Given the description of an element on the screen output the (x, y) to click on. 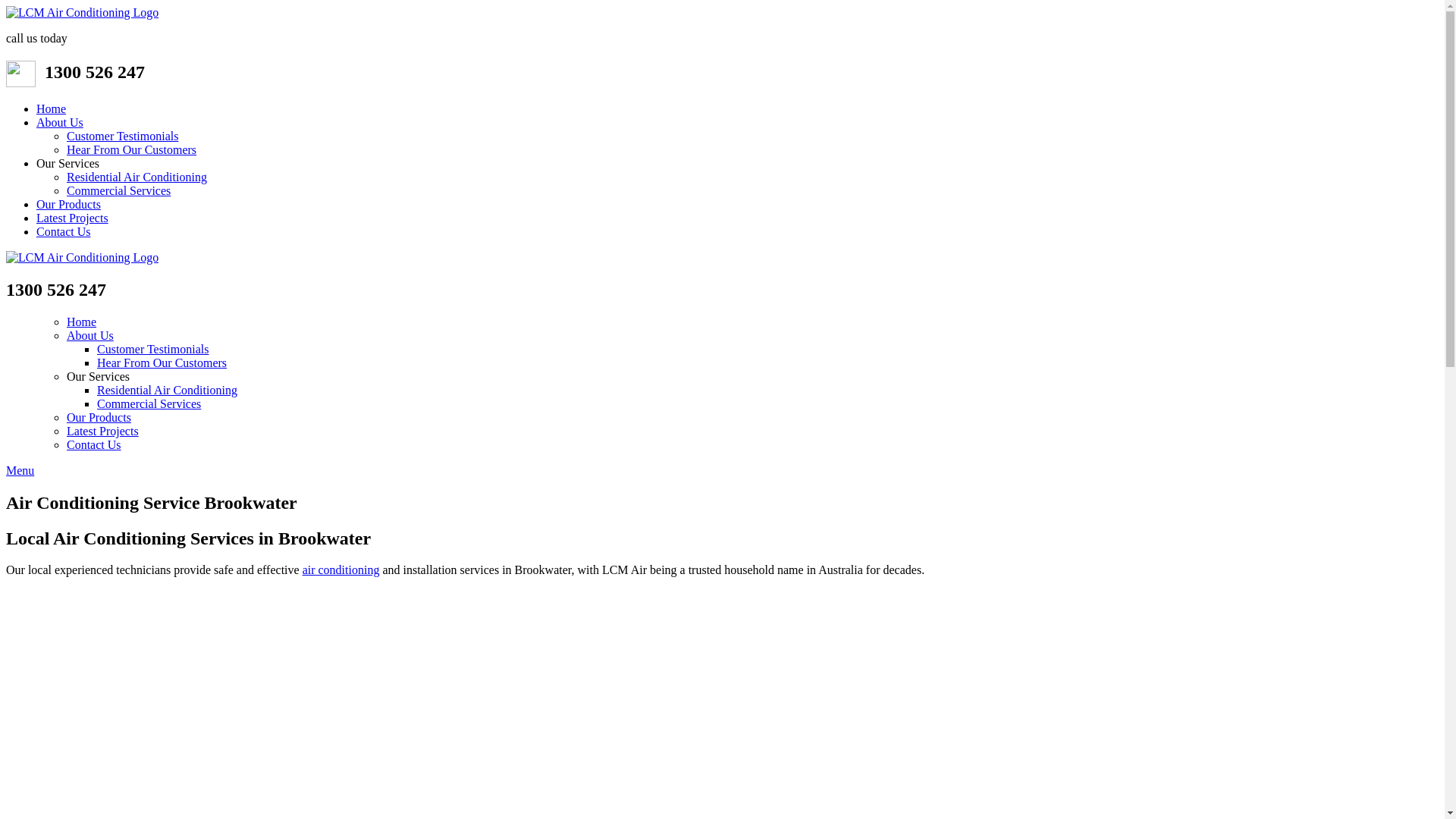
Latest Projects Element type: text (102, 430)
Residential Air Conditioning Element type: text (136, 176)
Contact Us Element type: text (93, 444)
1300 526 247 Element type: text (56, 289)
Commercial Services Element type: text (148, 403)
Contact Us Element type: text (63, 231)
Customer Testimonials Element type: text (152, 348)
Our Products Element type: text (98, 417)
Our Services Element type: text (97, 376)
Hear From Our Customers Element type: text (131, 149)
Residential Air Conditioning Element type: text (167, 389)
Customer Testimonials Element type: text (122, 135)
Hear From Our Customers Element type: text (161, 362)
Home Element type: text (81, 321)
Our Services Element type: text (67, 162)
Latest Projects Element type: text (72, 217)
Commercial Services Element type: text (118, 190)
air conditioning Element type: text (340, 569)
About Us Element type: text (59, 122)
About Us Element type: text (89, 335)
Menu Element type: text (20, 470)
Our Products Element type: text (68, 203)
Home Element type: text (50, 108)
1300 526 247 Element type: text (94, 71)
